Given the description of an element on the screen output the (x, y) to click on. 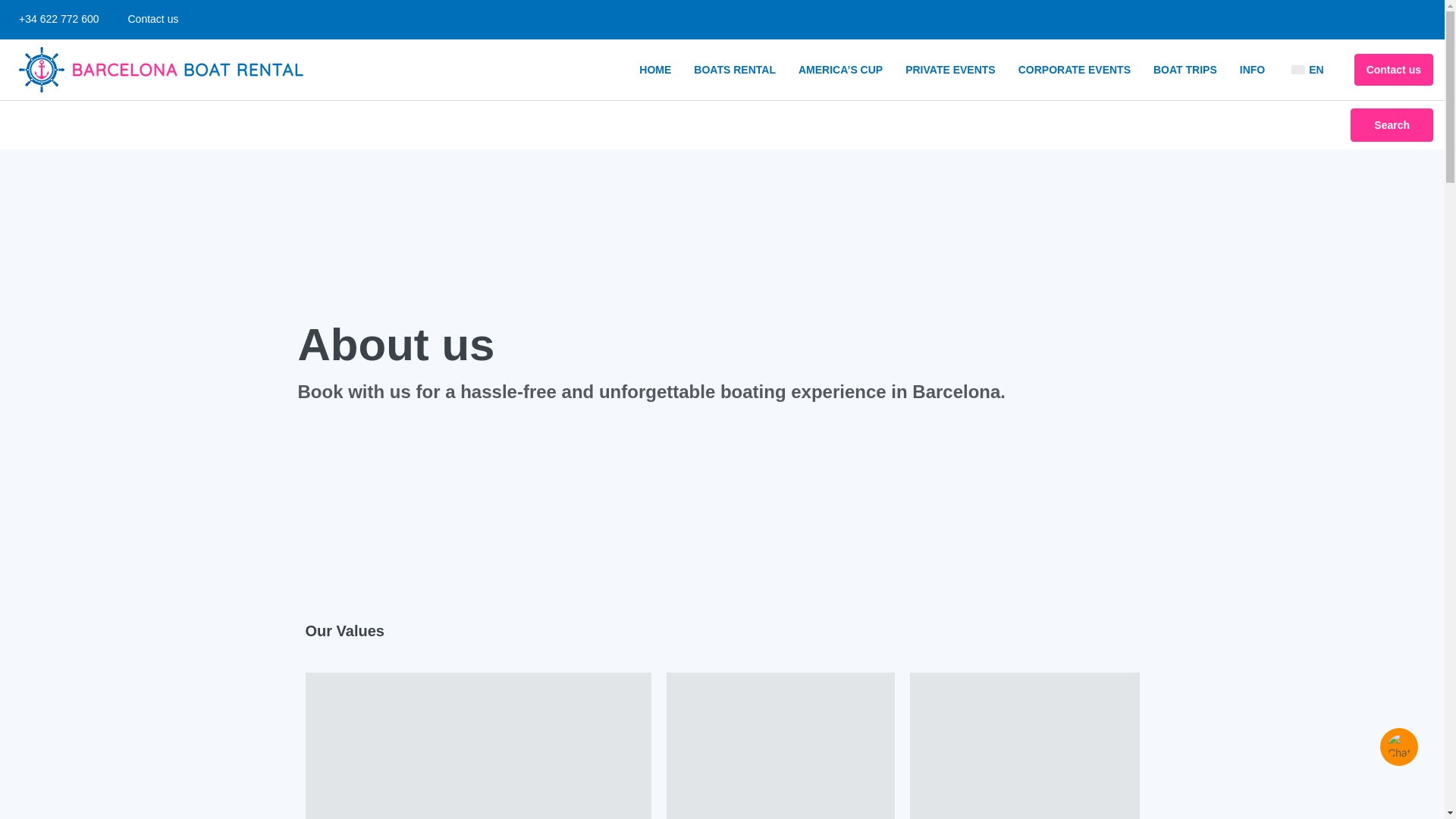
CORPORATE EVENTS (1074, 69)
Barcelona Boat Rental -  (160, 69)
INFO (1252, 69)
Contact us (148, 19)
BOAT TRIPS (1184, 69)
BOATS RENTAL (734, 69)
HOME (654, 69)
PRIVATE EVENTS (950, 69)
